Given the description of an element on the screen output the (x, y) to click on. 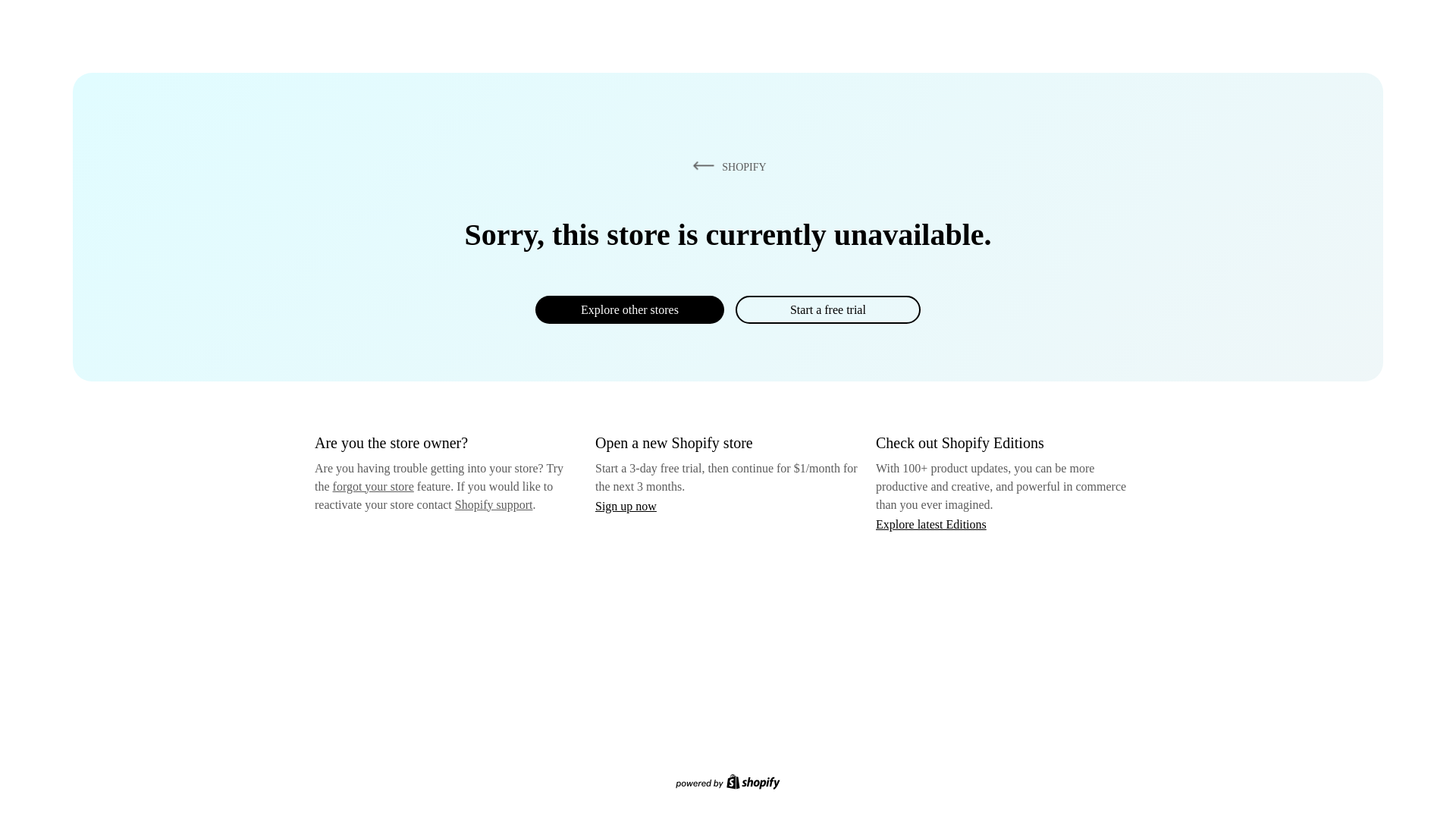
Explore other stores (629, 309)
forgot your store (373, 486)
SHOPIFY (726, 166)
Shopify support (493, 504)
Explore latest Editions (931, 523)
Sign up now (625, 505)
Start a free trial (827, 309)
